Given the description of an element on the screen output the (x, y) to click on. 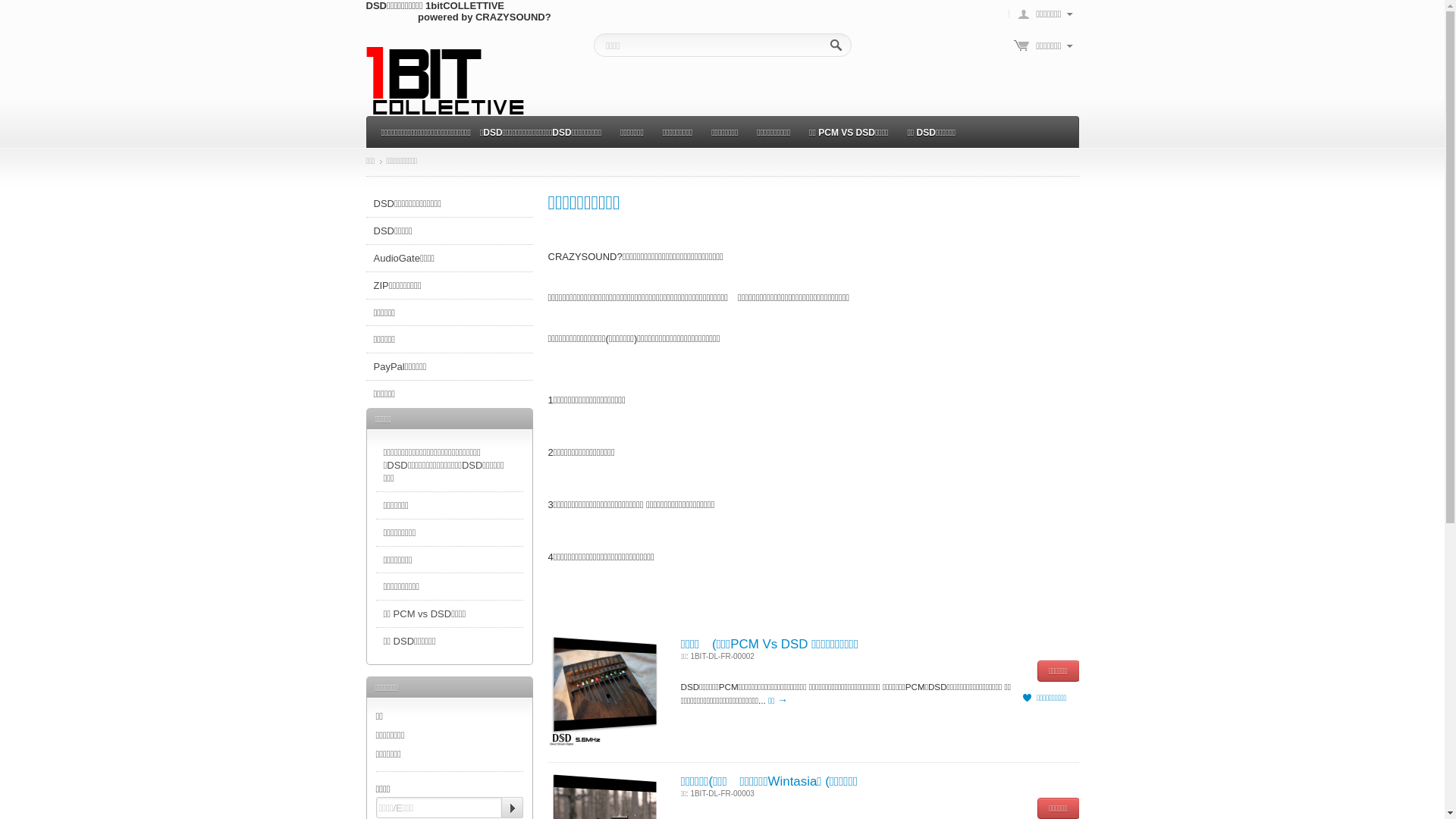
Go Element type: hover (512, 807)
